Given the description of an element on the screen output the (x, y) to click on. 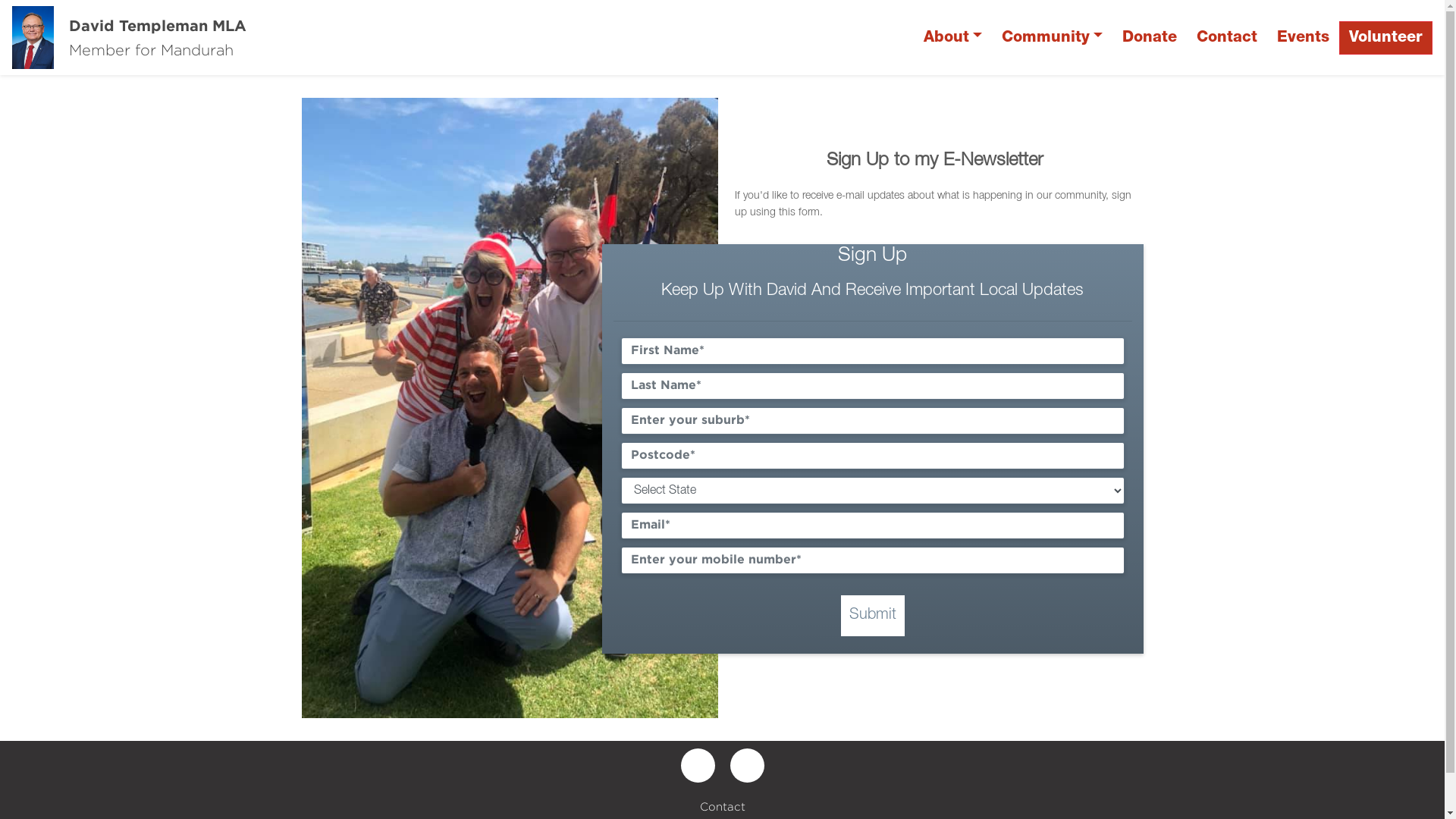
Contact Element type: text (1226, 37)
Events Element type: text (1303, 37)
About Element type: text (952, 37)
Volunteer Element type: text (1385, 37)
Submit Element type: text (872, 615)
Contact Element type: text (722, 806)
Community Element type: text (1051, 37)
Donate Element type: text (1149, 37)
